Given the description of an element on the screen output the (x, y) to click on. 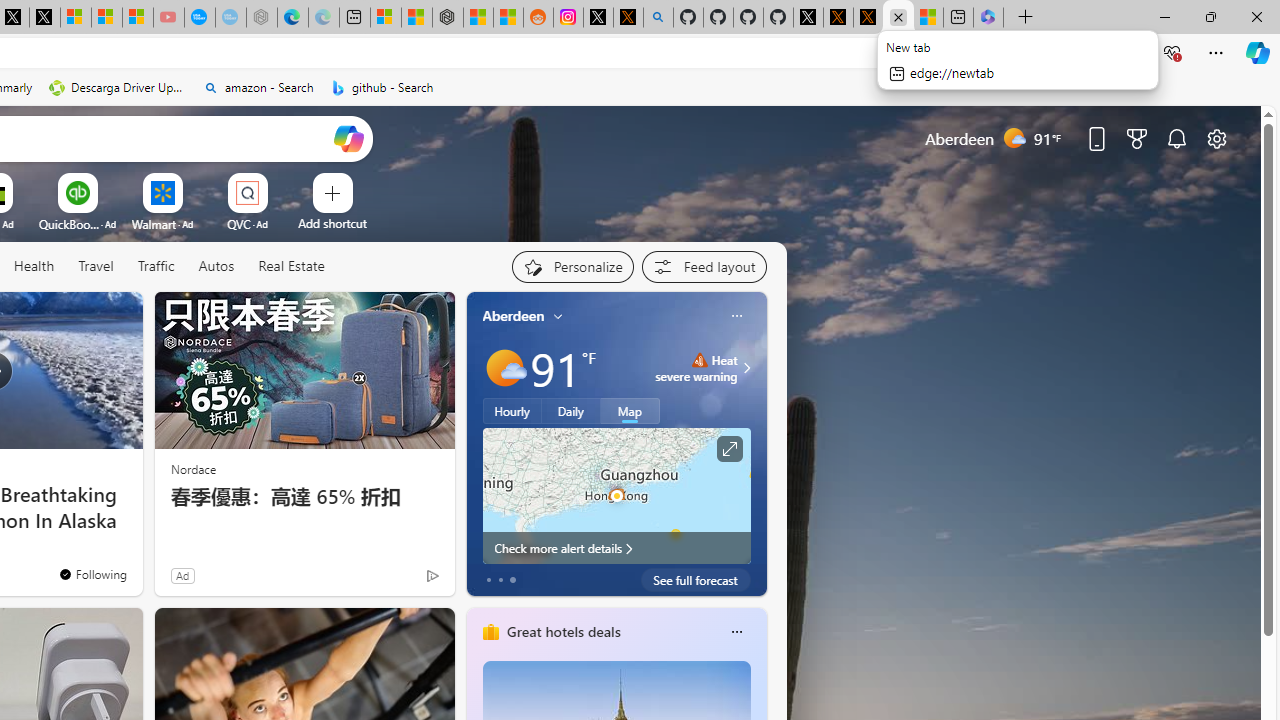
Traffic (155, 267)
Mostly sunny (504, 368)
Hourly (511, 411)
Personalize your feed" (571, 266)
Restore (1210, 16)
X (44, 17)
Log in to X / X (598, 17)
Real Estate (290, 267)
This story is trending (393, 579)
Microsoft rewards (1137, 138)
More options (736, 631)
Descarga Driver Updater (118, 88)
tab-2 (511, 579)
